Given the description of an element on the screen output the (x, y) to click on. 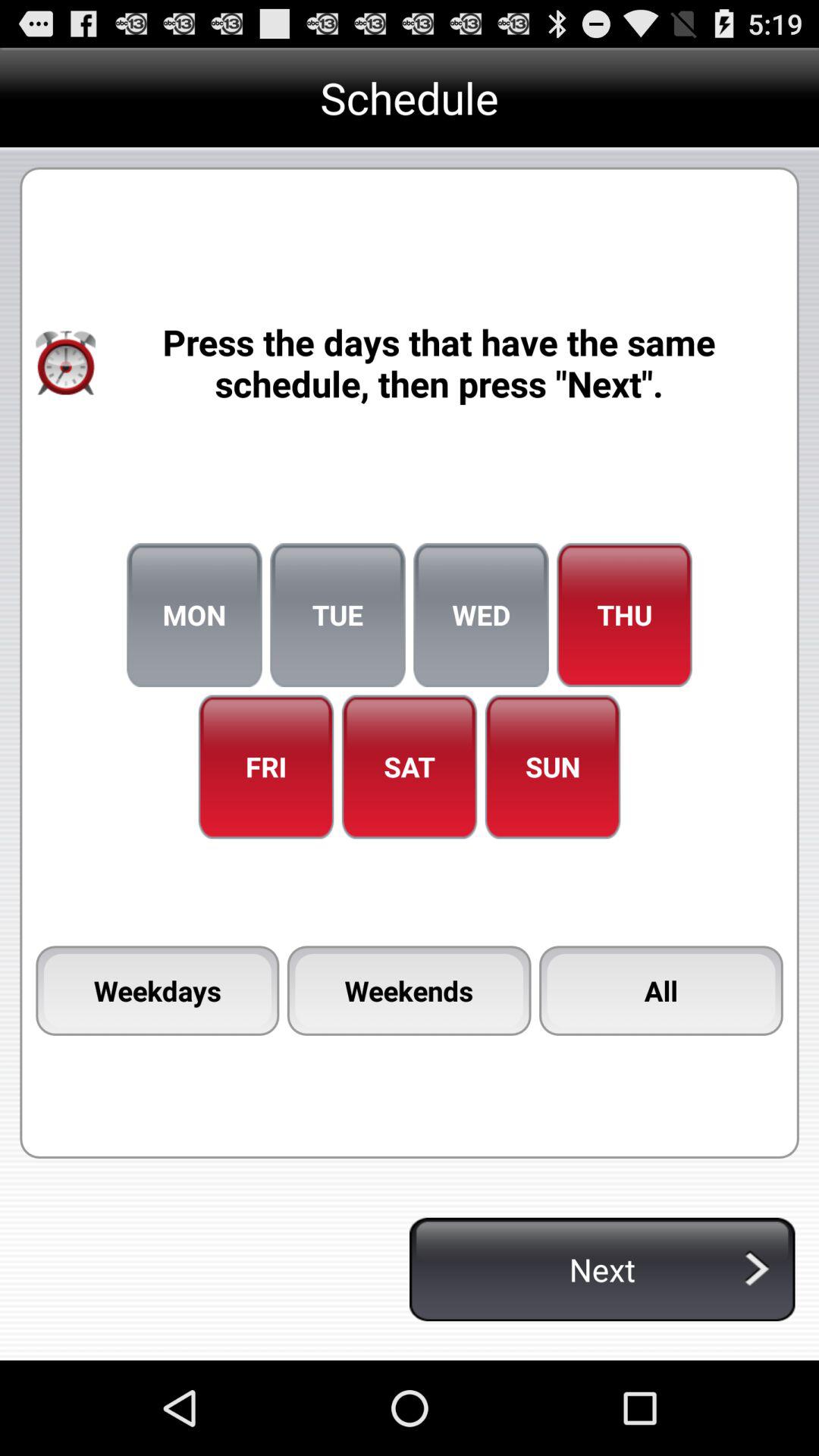
flip to the tue (337, 615)
